Given the description of an element on the screen output the (x, y) to click on. 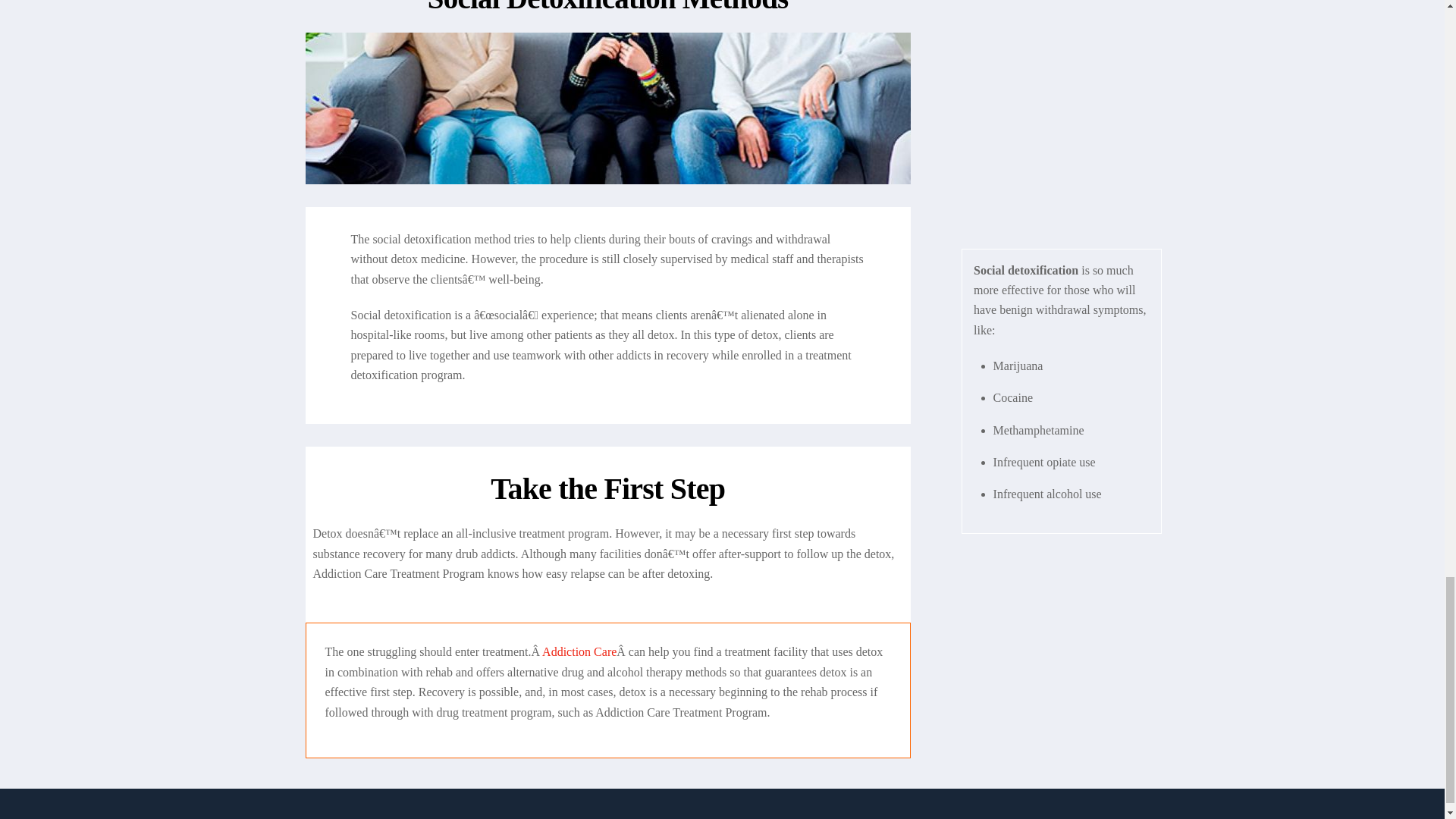
Addiction Care (578, 651)
Treatment Program (578, 651)
intervention-services (607, 108)
